Given the description of an element on the screen output the (x, y) to click on. 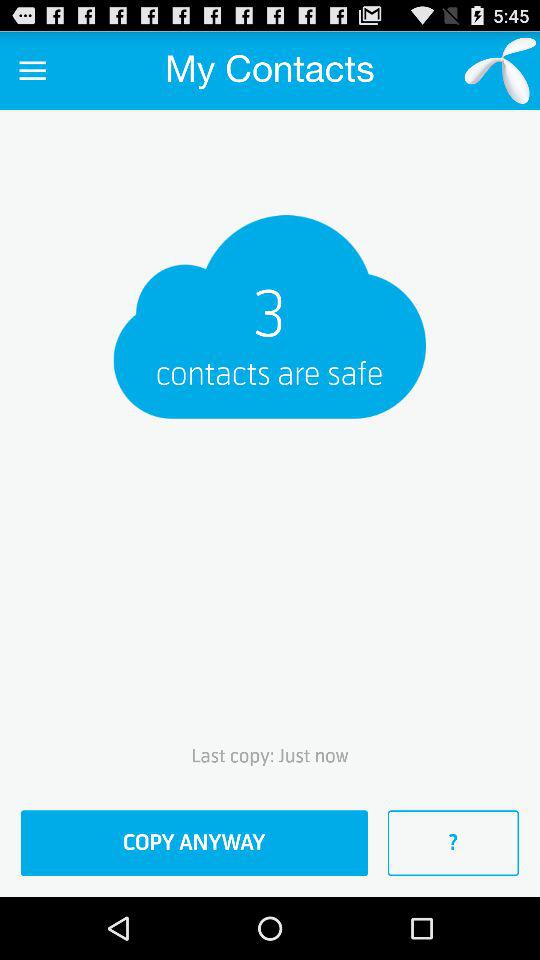
press the icon below last copy just item (194, 843)
